Given the description of an element on the screen output the (x, y) to click on. 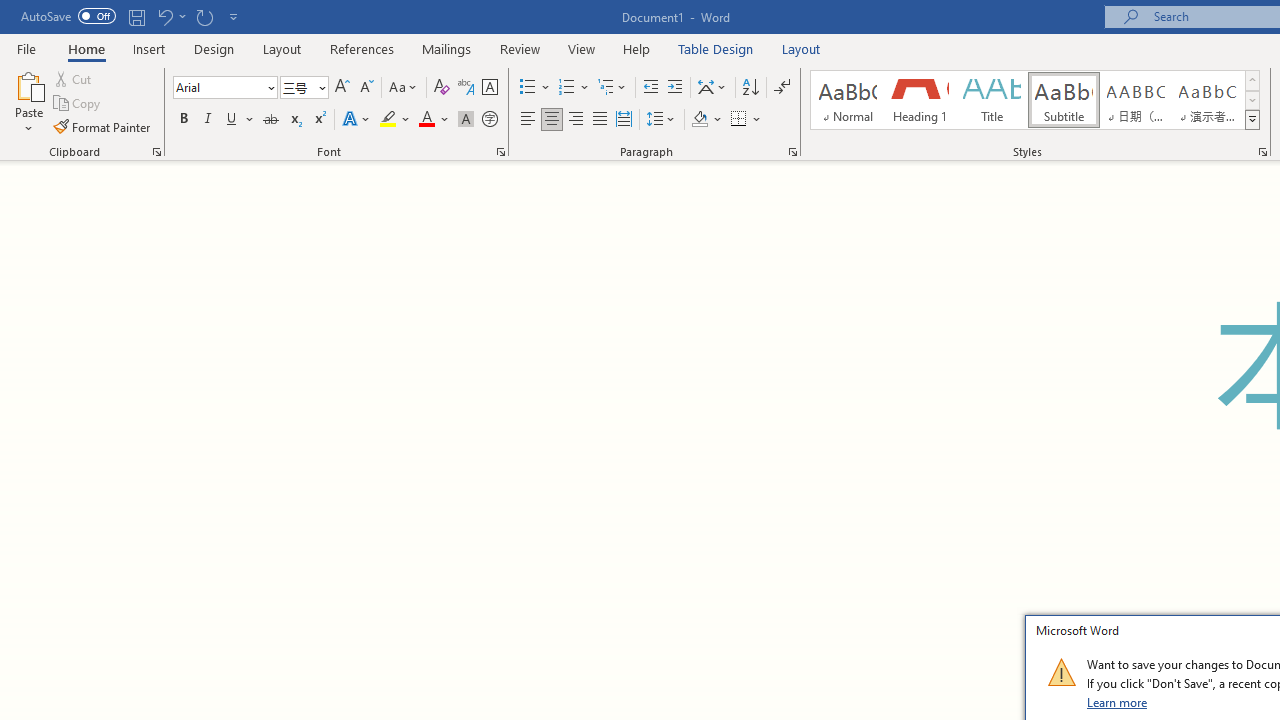
Font Color Red (426, 119)
